Given the description of an element on the screen output the (x, y) to click on. 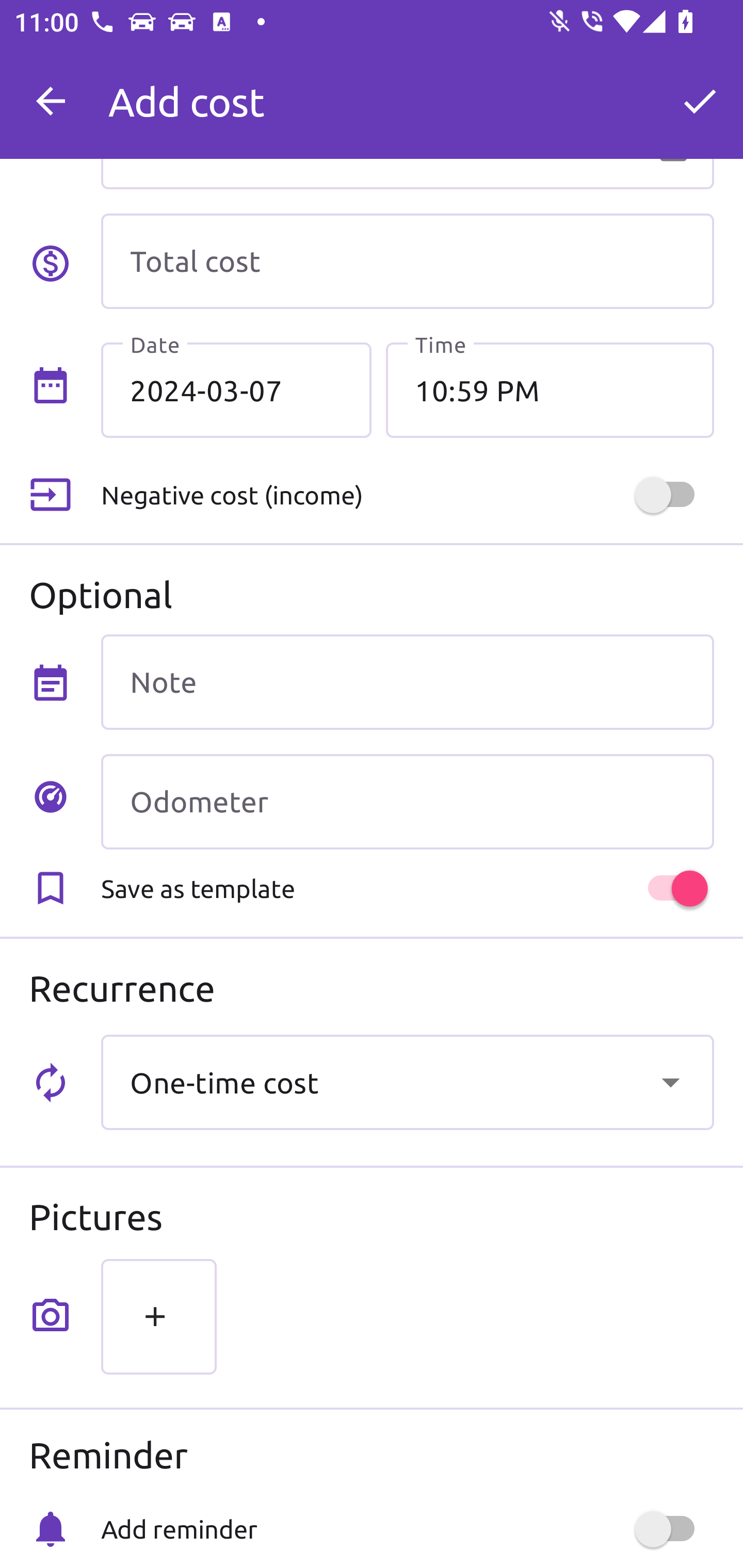
M My Car 0 km (407, 92)
Navigate up (50, 101)
OK (699, 101)
Total cost  (407, 260)
2024-03-07 (236, 389)
10:59 PM (549, 389)
Negative cost (income) (407, 494)
Note (407, 682)
Odometer (407, 801)
Save as template (407, 887)
One-time cost (407, 1082)
Show dropdown menu (670, 1081)
Add reminder (407, 1529)
